Given the description of an element on the screen output the (x, y) to click on. 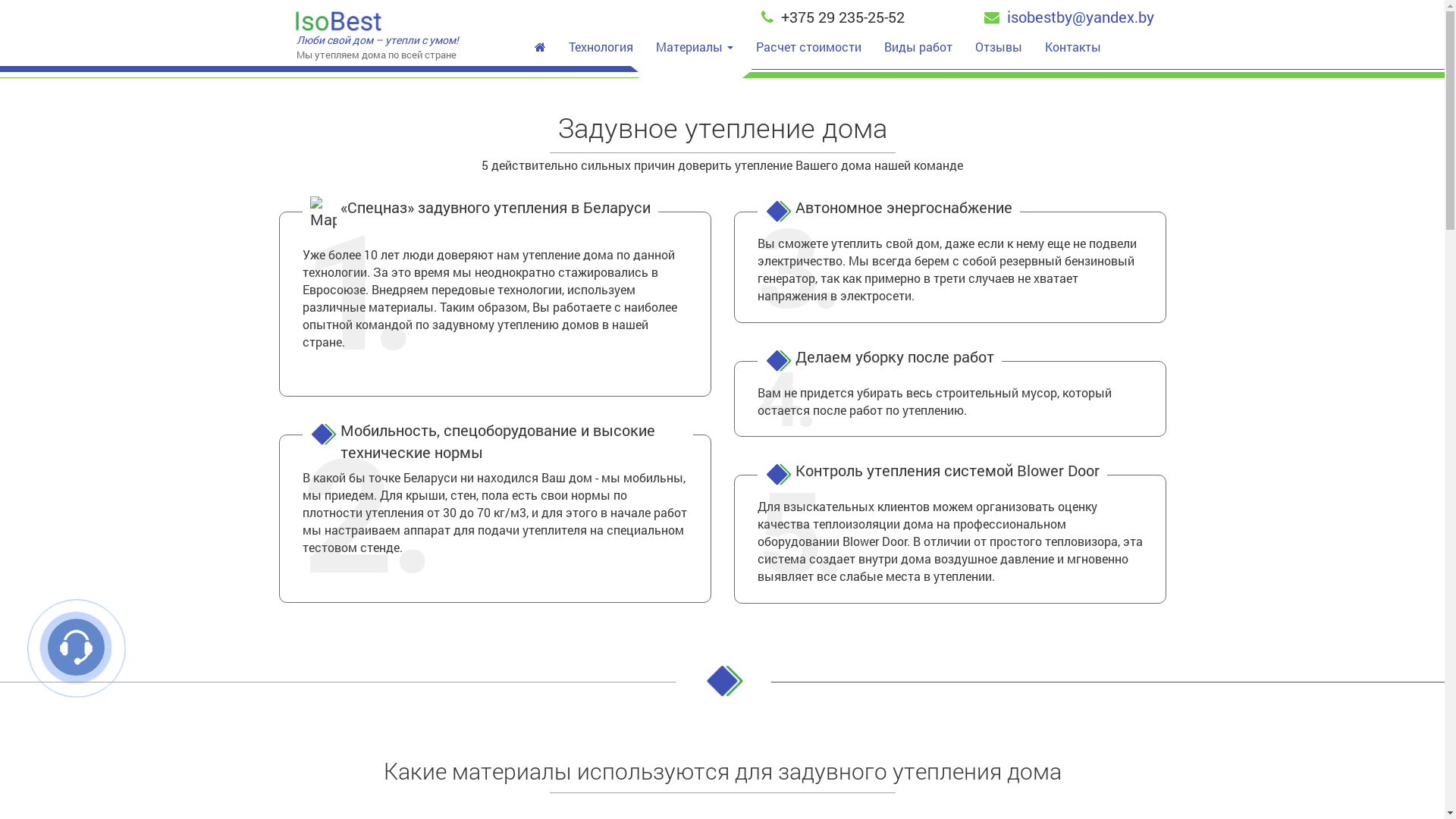
 isobestby@yandex.by Element type: text (1069, 16)
 +375 29 235-25-52 Element type: text (832, 16)
